Given the description of an element on the screen output the (x, y) to click on. 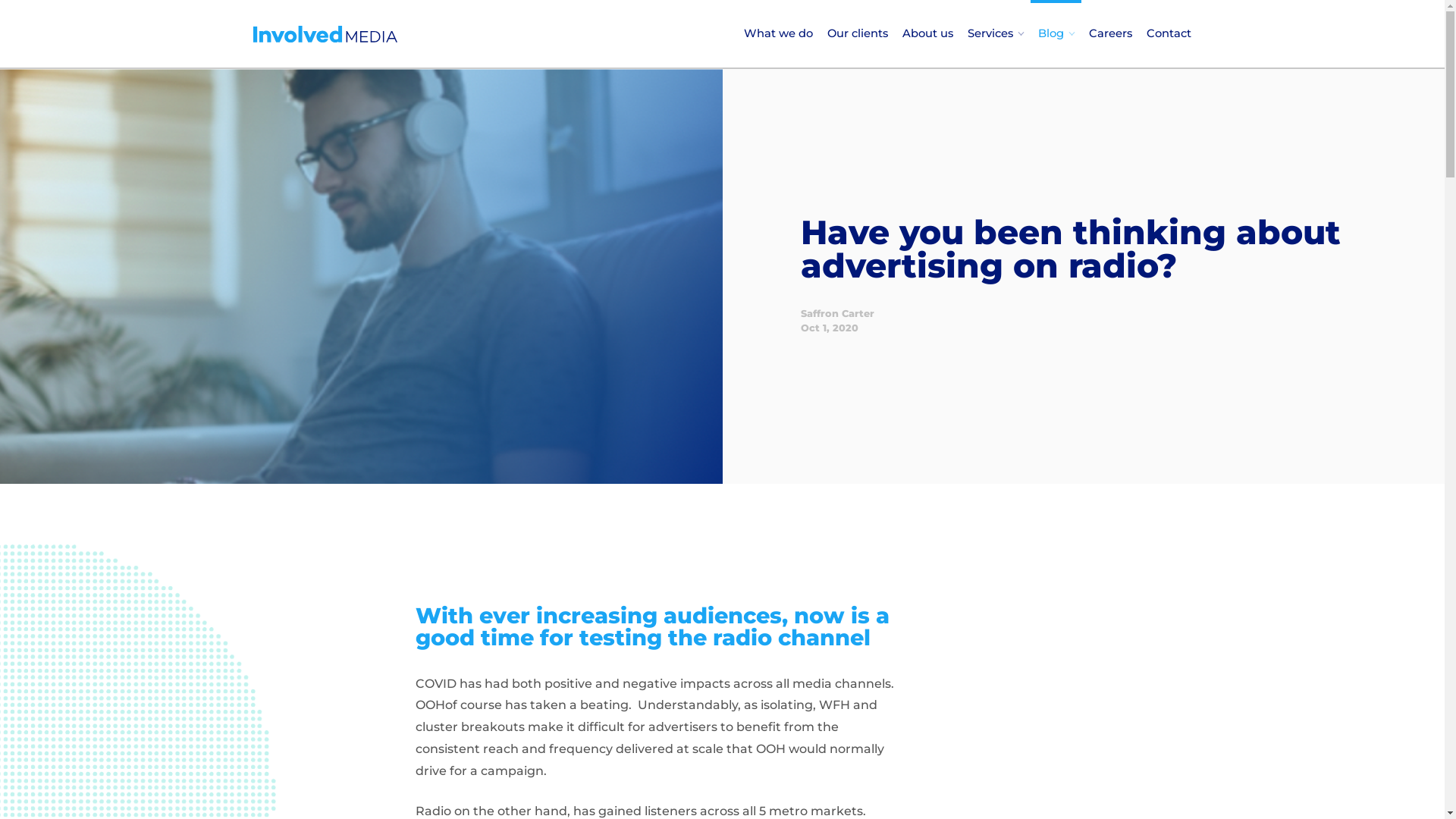
Blog Element type: text (1056, 33)
Careers Element type: text (1110, 33)
Services Element type: text (995, 33)
About us Element type: text (927, 33)
Our clients Element type: text (857, 33)
What we do Element type: text (777, 33)
Contact Element type: text (1168, 33)
